Given the description of an element on the screen output the (x, y) to click on. 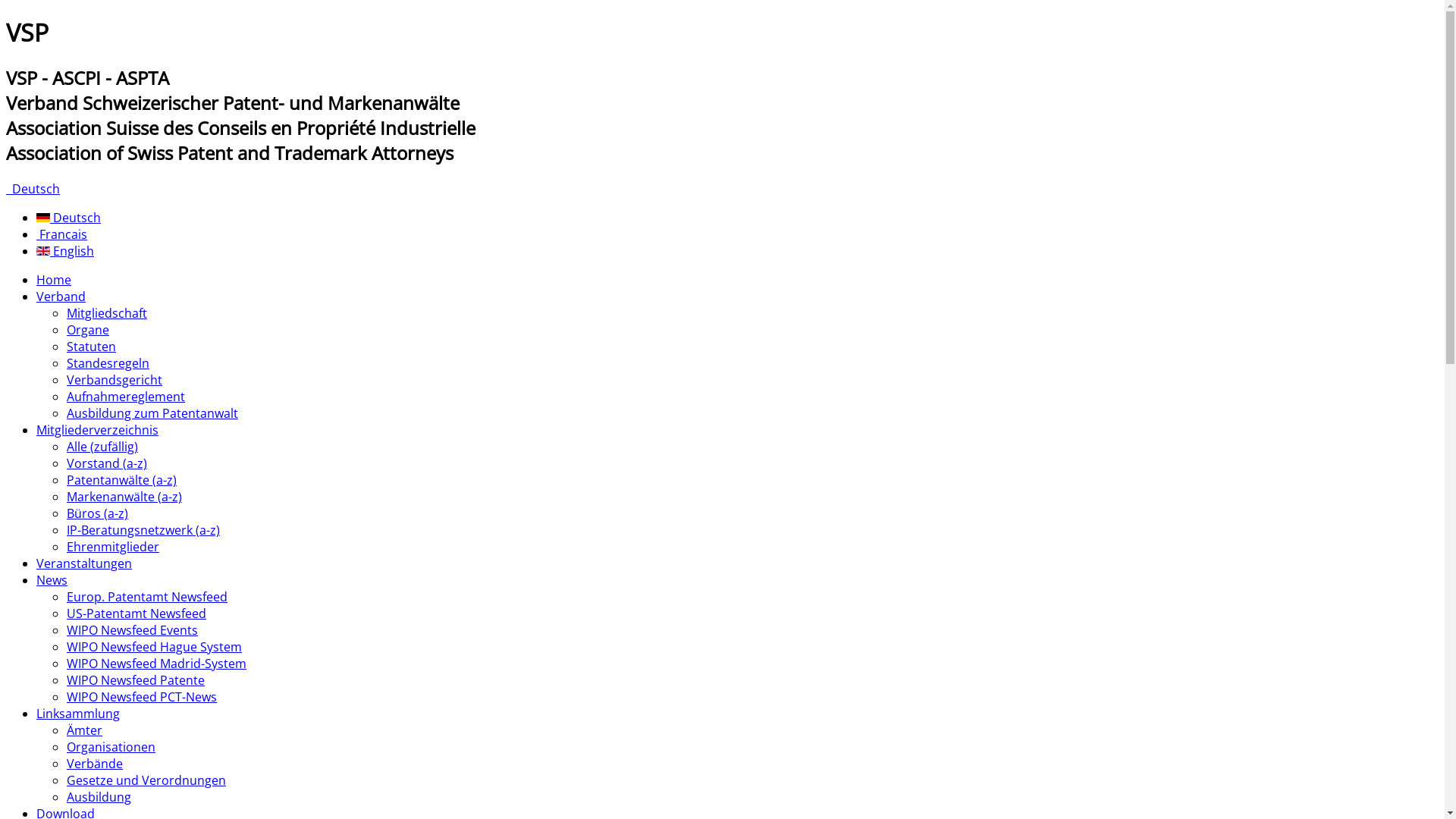
Mitgliedschaft Element type: text (106, 312)
WIPO Newsfeed Madrid-System Element type: text (156, 663)
WIPO Newsfeed PCT-News Element type: text (141, 696)
Verband Element type: text (60, 296)
US-Patentamt Newsfeed Element type: text (136, 613)
Ehrenmitglieder Element type: text (112, 546)
Francais Element type: text (61, 233)
Ausbildung Element type: text (98, 796)
IP-Beratungsnetzwerk (a-z) Element type: text (142, 529)
Verbandsgericht Element type: text (114, 379)
Home Element type: text (53, 279)
Linksammlung Element type: text (77, 713)
WIPO Newsfeed Patente Element type: text (135, 679)
Statuten Element type: text (91, 346)
  Deutsch Element type: text (32, 188)
Gesetze und Verordnungen Element type: text (145, 779)
Organe Element type: text (87, 329)
Organisationen Element type: text (110, 746)
Standesregeln Element type: text (107, 362)
WIPO Newsfeed Events Element type: text (131, 629)
Europ. Patentamt Newsfeed Element type: text (146, 596)
Mitgliederverzeichnis Element type: text (97, 429)
News Element type: text (51, 579)
Deutsch Element type: text (68, 217)
Vorstand (a-z) Element type: text (106, 463)
English Element type: text (65, 250)
Veranstaltungen Element type: text (83, 563)
WIPO Newsfeed Hague System Element type: text (153, 646)
Ausbildung zum Patentanwalt Element type: text (152, 412)
Aufnahmereglement Element type: text (125, 396)
